Given the description of an element on the screen output the (x, y) to click on. 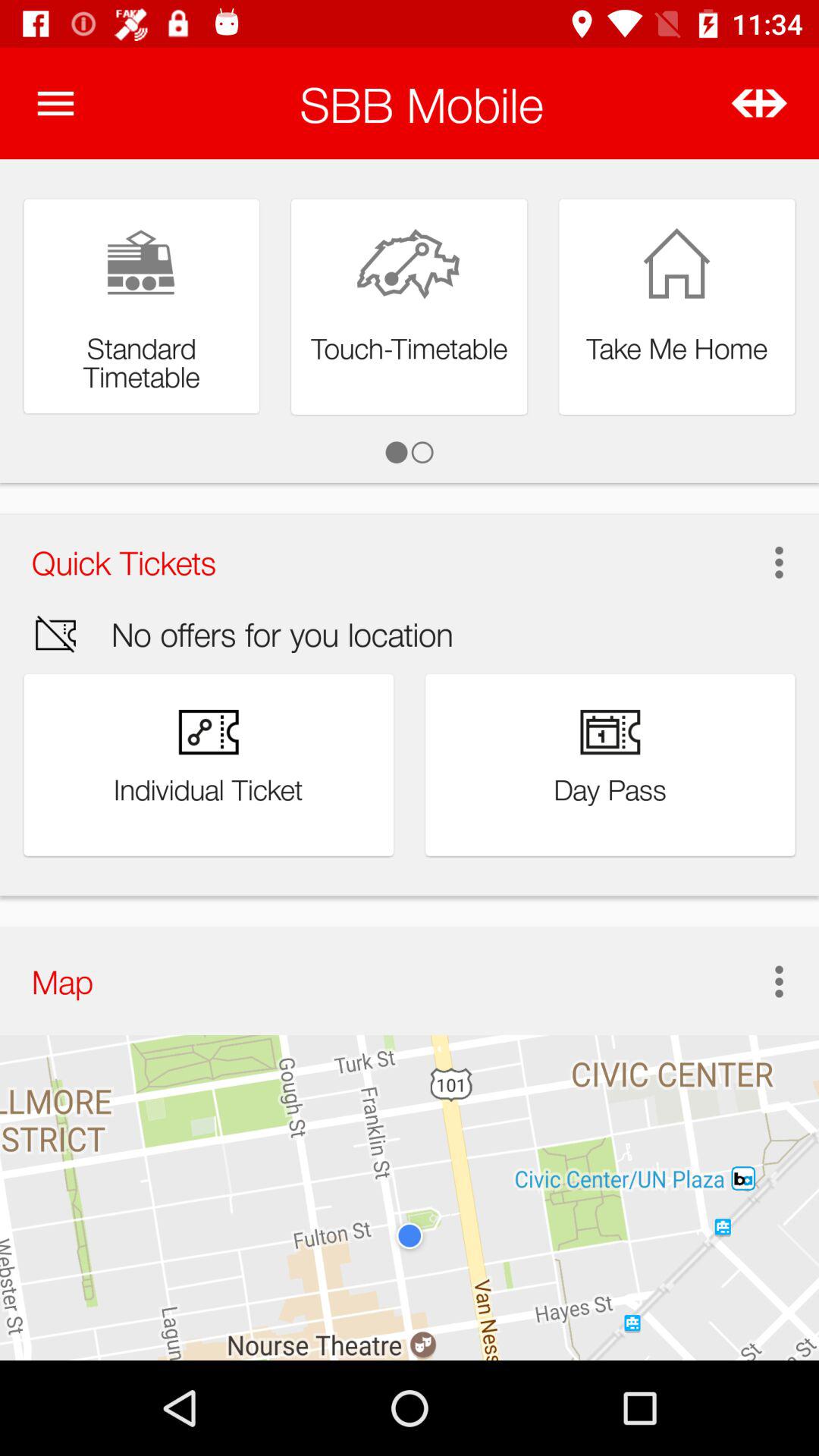
select the item below the no offers for item (763, 981)
